Given the description of an element on the screen output the (x, y) to click on. 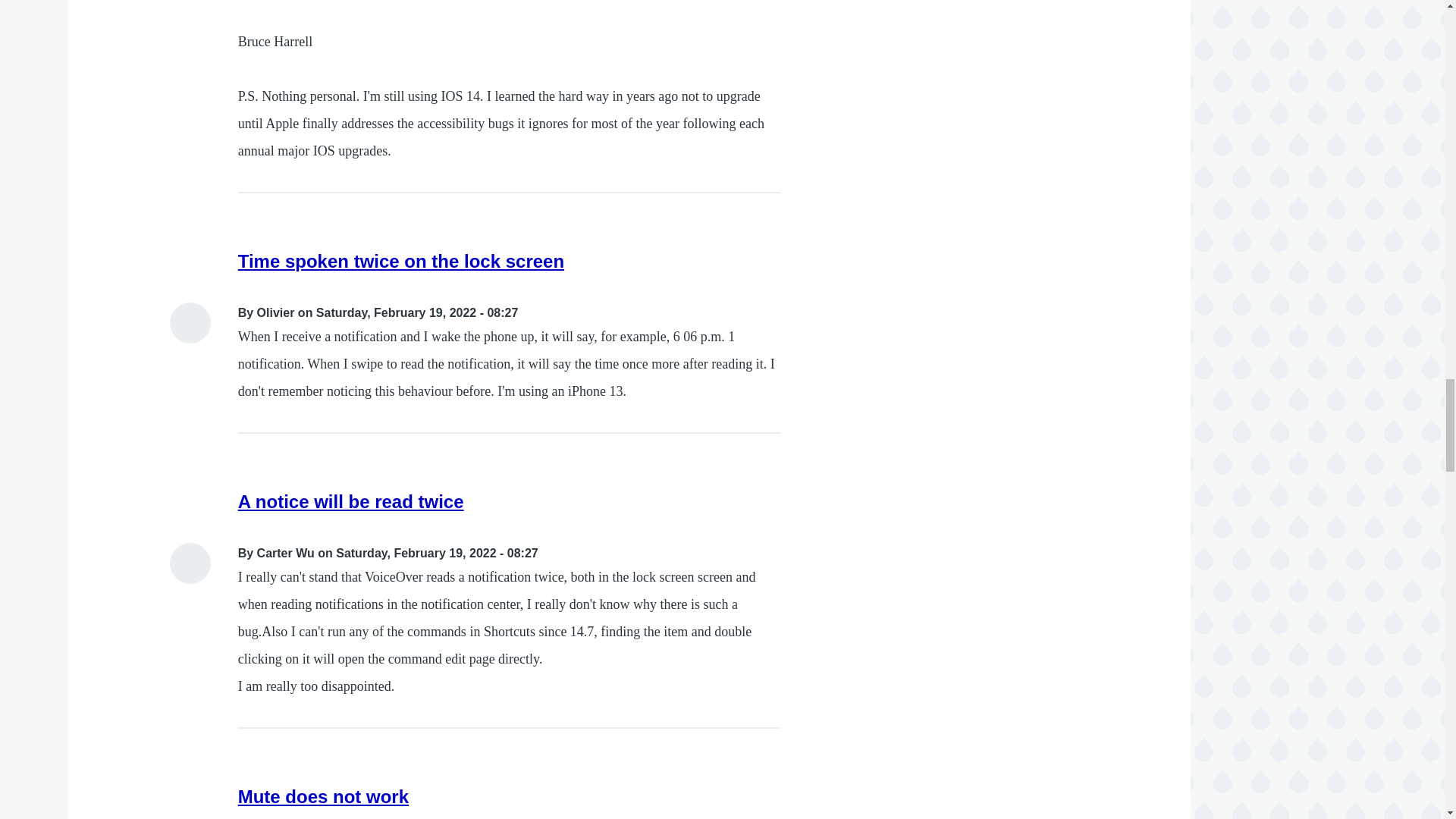
Mute does not work (323, 796)
Time spoken twice on the lock screen (401, 260)
A notice will be read twice (351, 501)
